Given the description of an element on the screen output the (x, y) to click on. 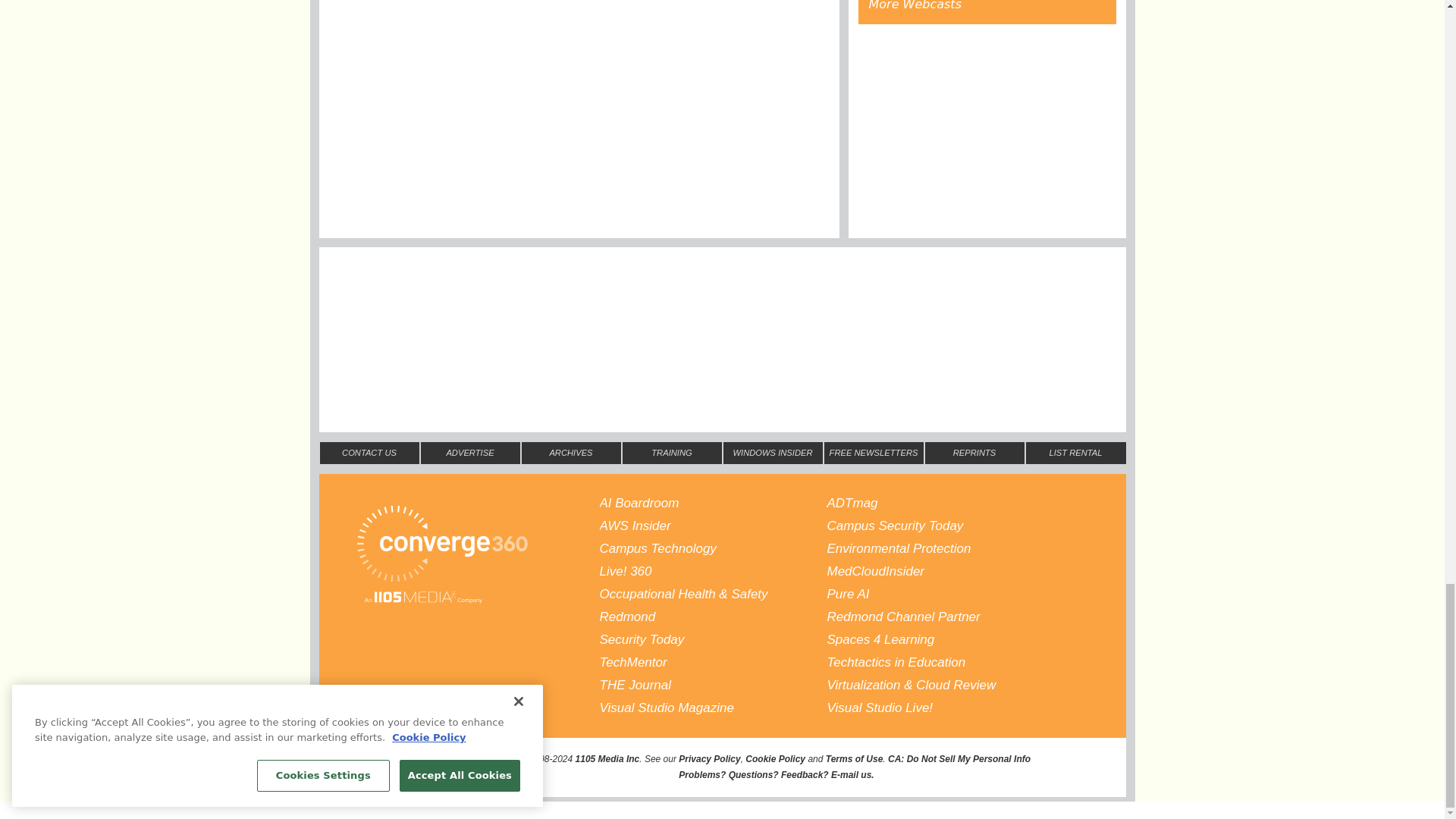
3rd party ad content (986, 131)
3rd party ad content (721, 293)
3rd party ad content (721, 373)
